Given the description of an element on the screen output the (x, y) to click on. 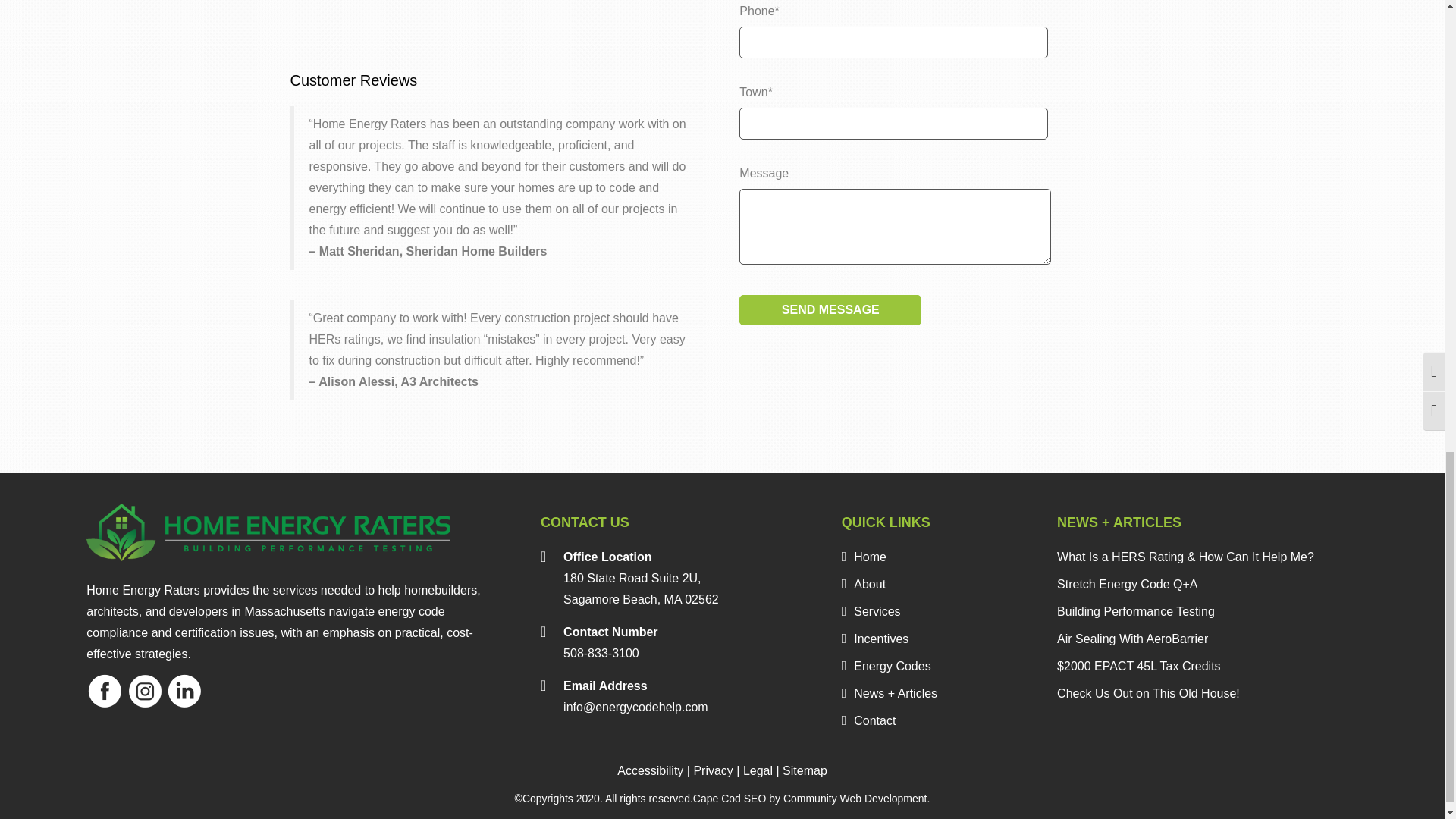
Home (863, 556)
Send Message (830, 309)
Send Message (830, 309)
What is a HERS rating? (496, 16)
Services (871, 611)
508-833-3100 (601, 653)
About (863, 584)
